Given the description of an element on the screen output the (x, y) to click on. 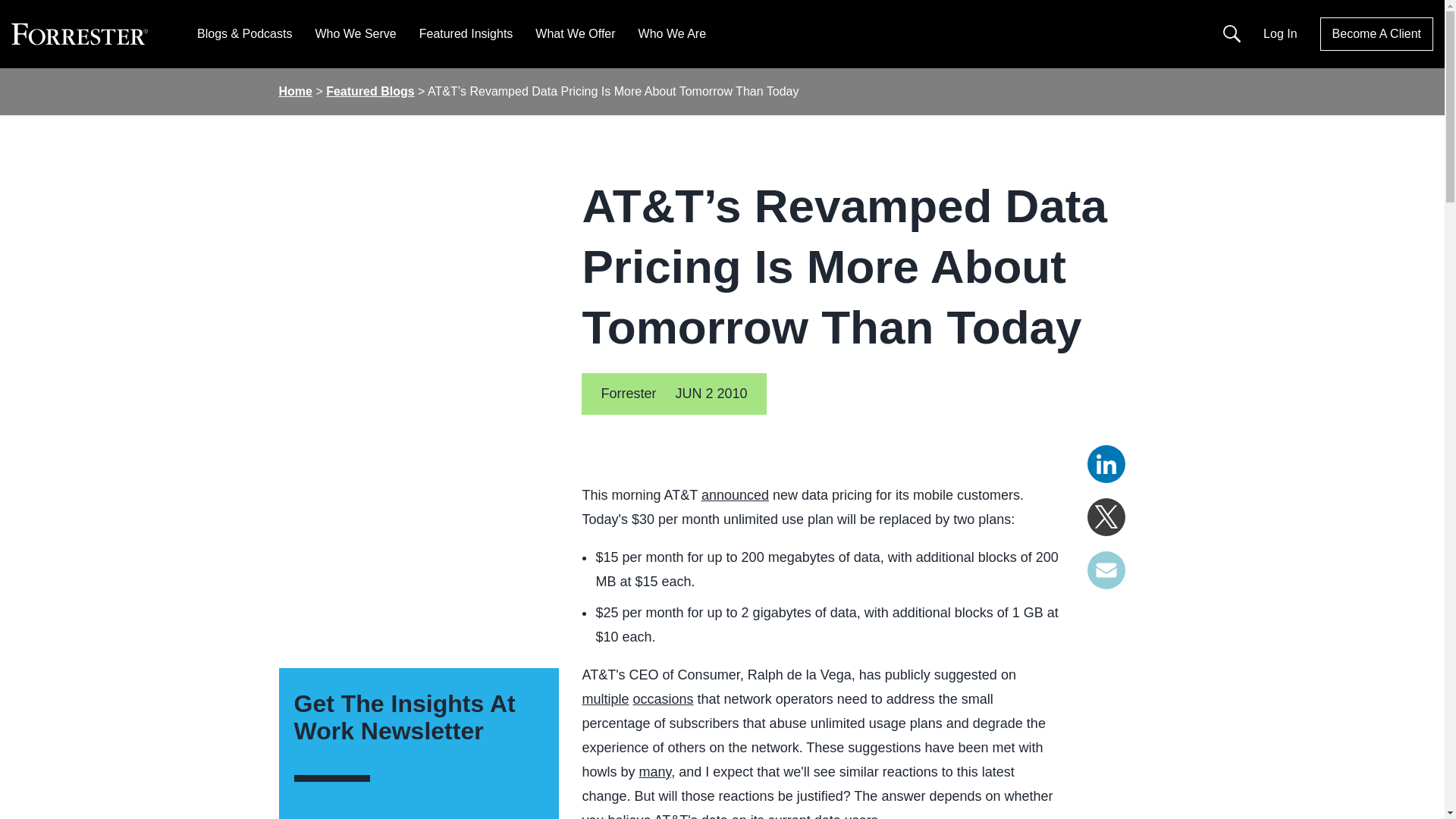
What We Offer (574, 33)
Who We Serve (355, 33)
Featured Insights (466, 33)
